Given the description of an element on the screen output the (x, y) to click on. 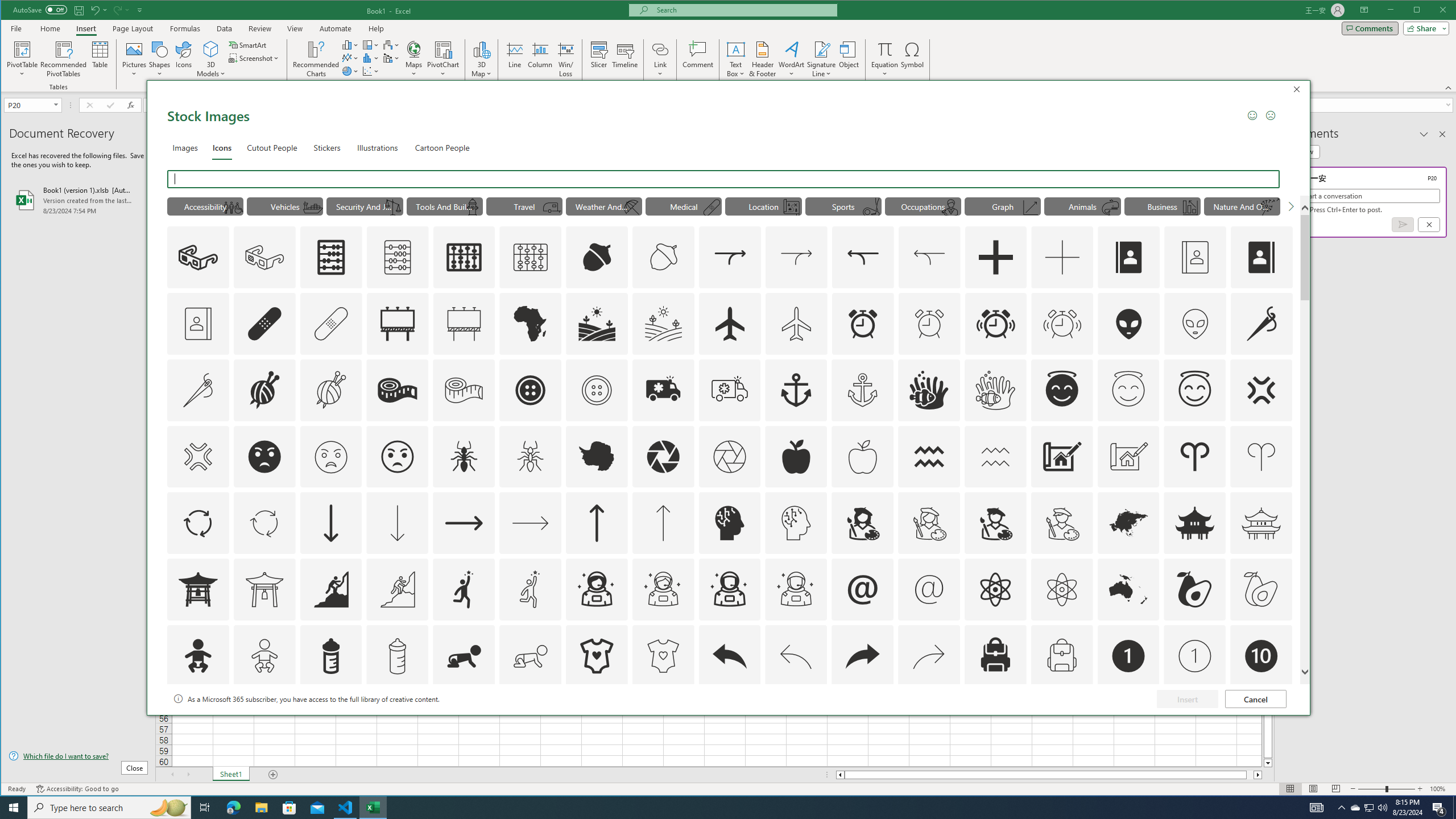
AutomationID: Icons_Architecture (1061, 456)
AutomationID: Icons_AdhesiveBandage (264, 323)
AutomationID: Icons_Ant_M (530, 456)
Q2790: 100% (1382, 807)
WordArt (791, 59)
AutomationID: Icons_Aries_M (1260, 456)
AutomationID: Icons_AddressBook_LTR (1128, 256)
